Given the description of an element on the screen output the (x, y) to click on. 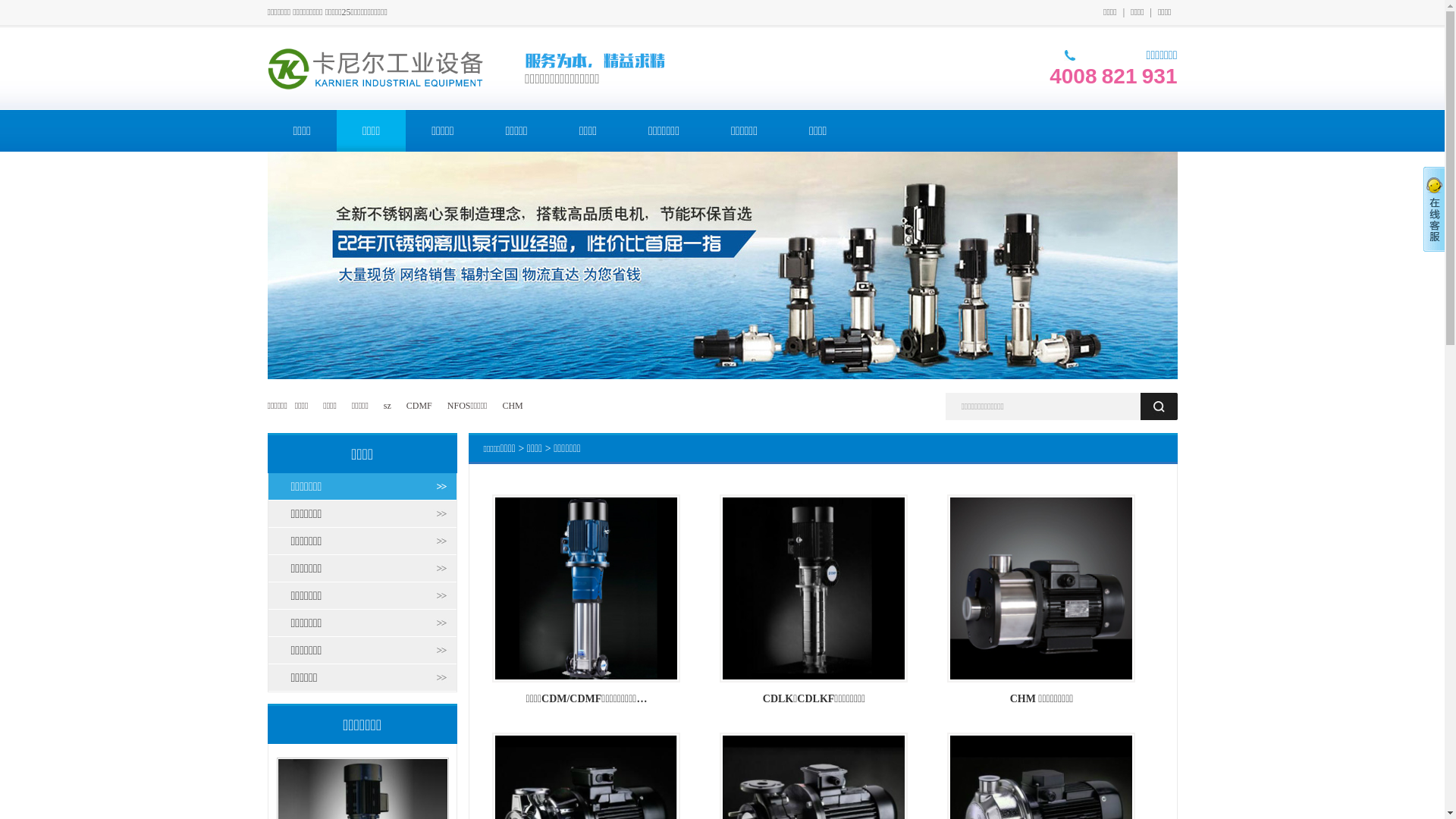
sz Element type: text (387, 405)
CHM Element type: text (512, 405)
CDMF Element type: text (418, 405)
